Given the description of an element on the screen output the (x, y) to click on. 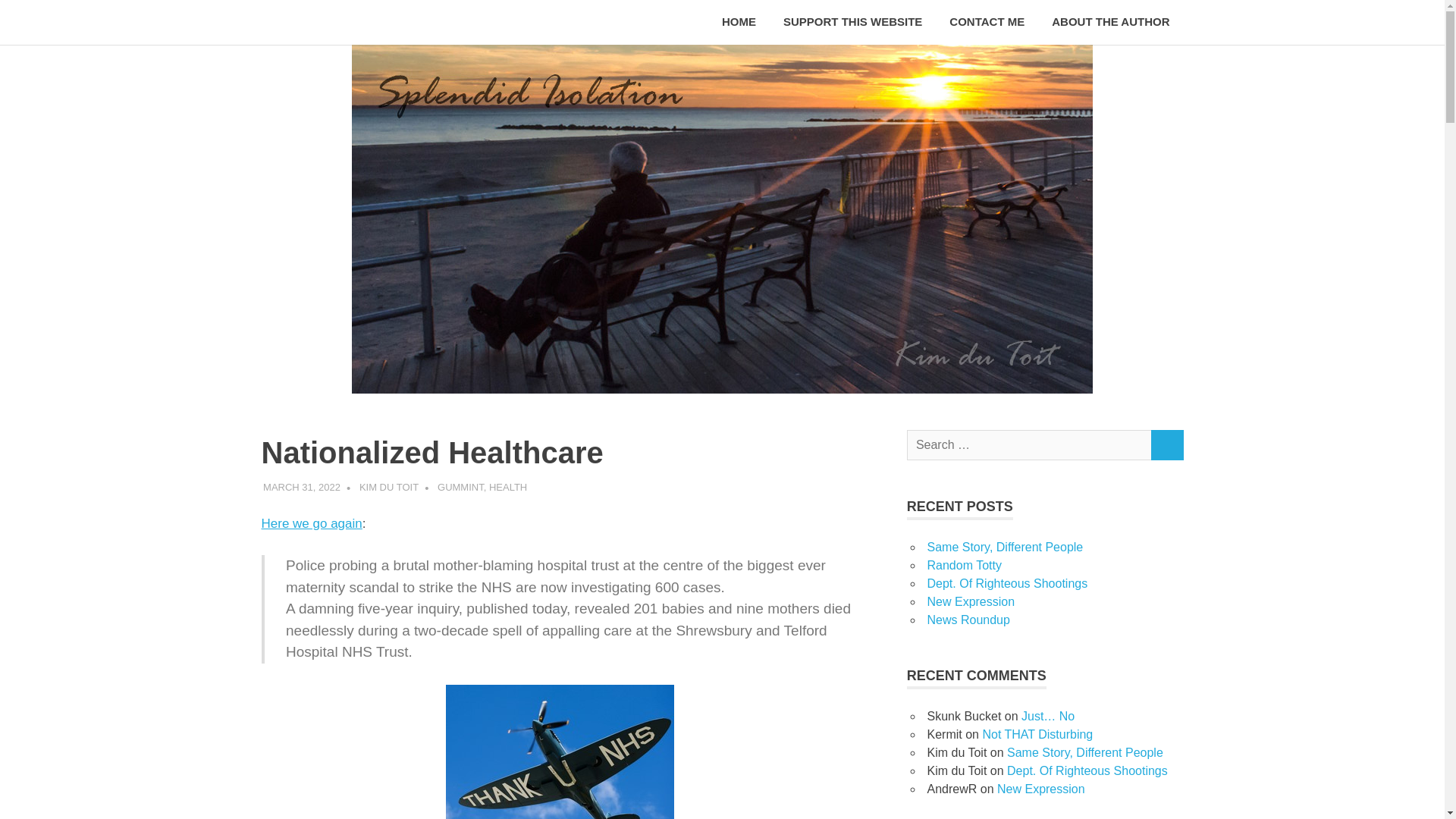
MARCH 31, 2022 (301, 487)
Random Totty (963, 564)
Dept. Of Righteous Shootings (1006, 583)
News Roundup (967, 619)
Not THAT Disturbing (1037, 734)
Dept. Of Righteous Shootings (1087, 770)
SUPPORT THIS WEBSITE (853, 22)
New Expression (1040, 788)
New Expression (970, 601)
Here we go again (310, 523)
ABOUT THE AUTHOR (1110, 22)
HOME (738, 22)
Same Story, Different People (1085, 752)
CONTACT ME (987, 22)
Search for: (1029, 444)
